Given the description of an element on the screen output the (x, y) to click on. 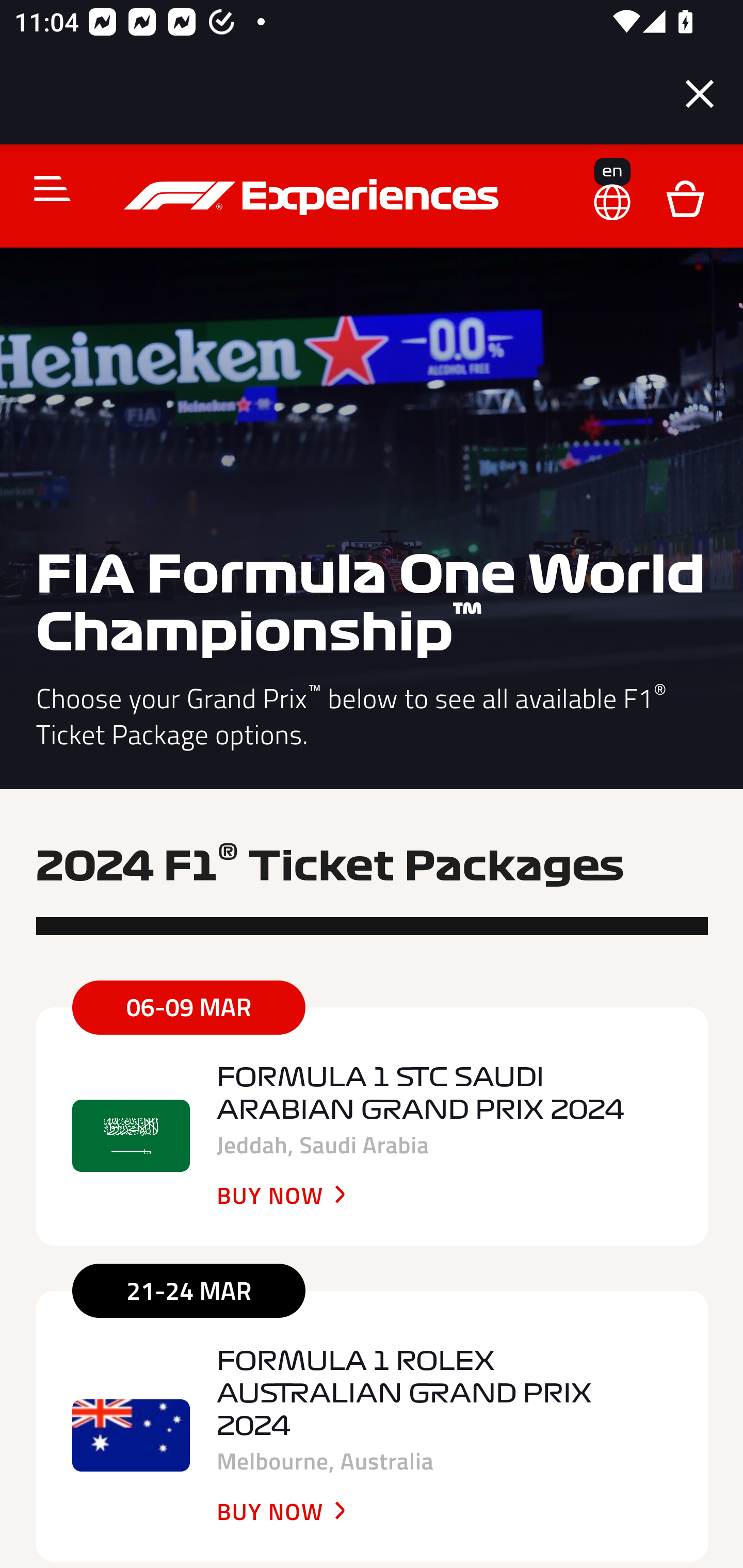
Close (699, 93)
Toggle navigation C (43, 188)
D (684, 197)
f1experiences (313, 197)
